Given the description of an element on the screen output the (x, y) to click on. 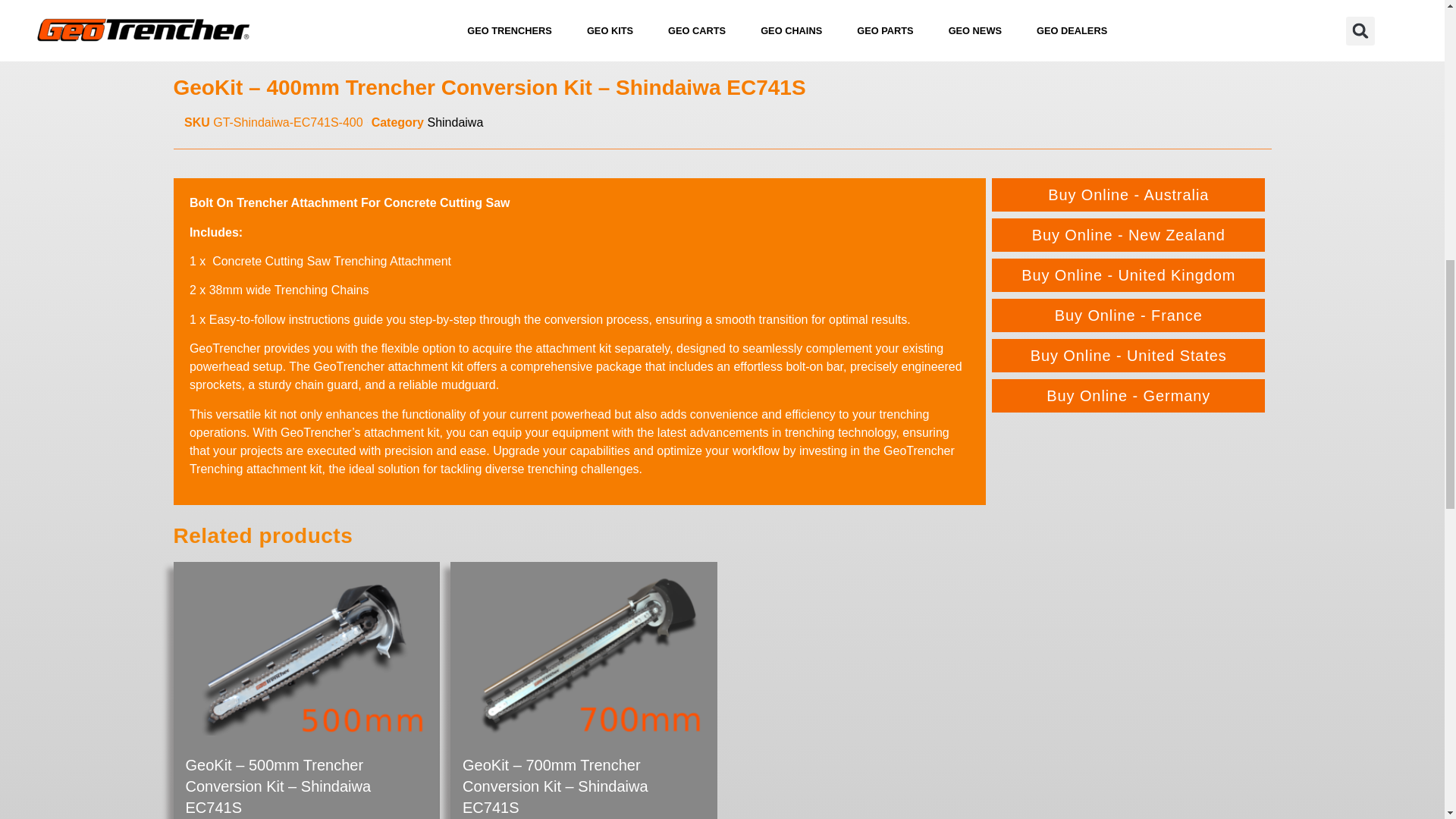
Buy Online - United Kingdom (1128, 274)
Buy Online - New Zealand (1128, 234)
GeoKits-400mm (721, 11)
Buy Online - Australia (1128, 194)
Shindaiwa (454, 122)
